Given the description of an element on the screen output the (x, y) to click on. 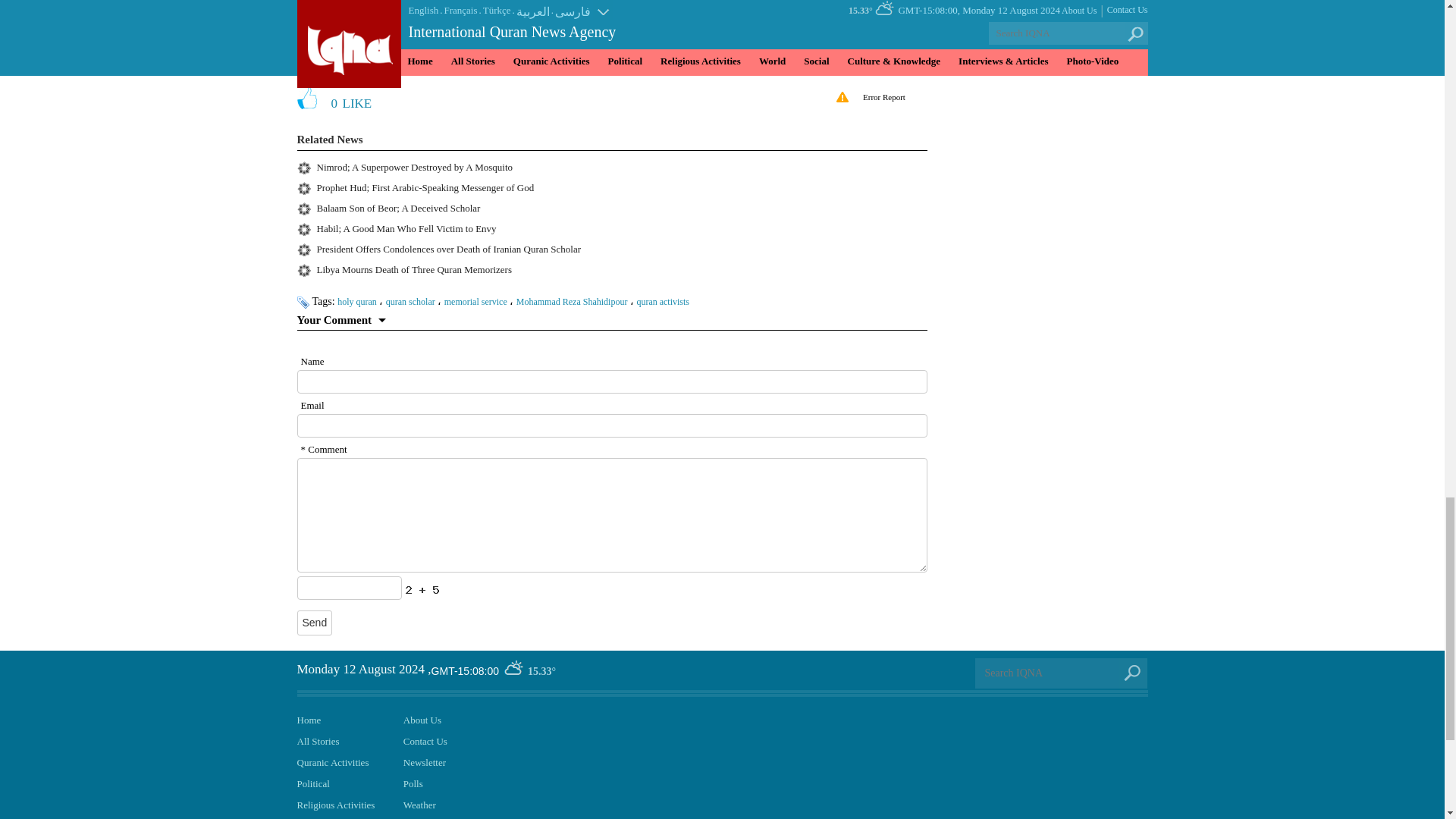
like (364, 99)
Error Report (881, 99)
Send (315, 622)
